Given the description of an element on the screen output the (x, y) to click on. 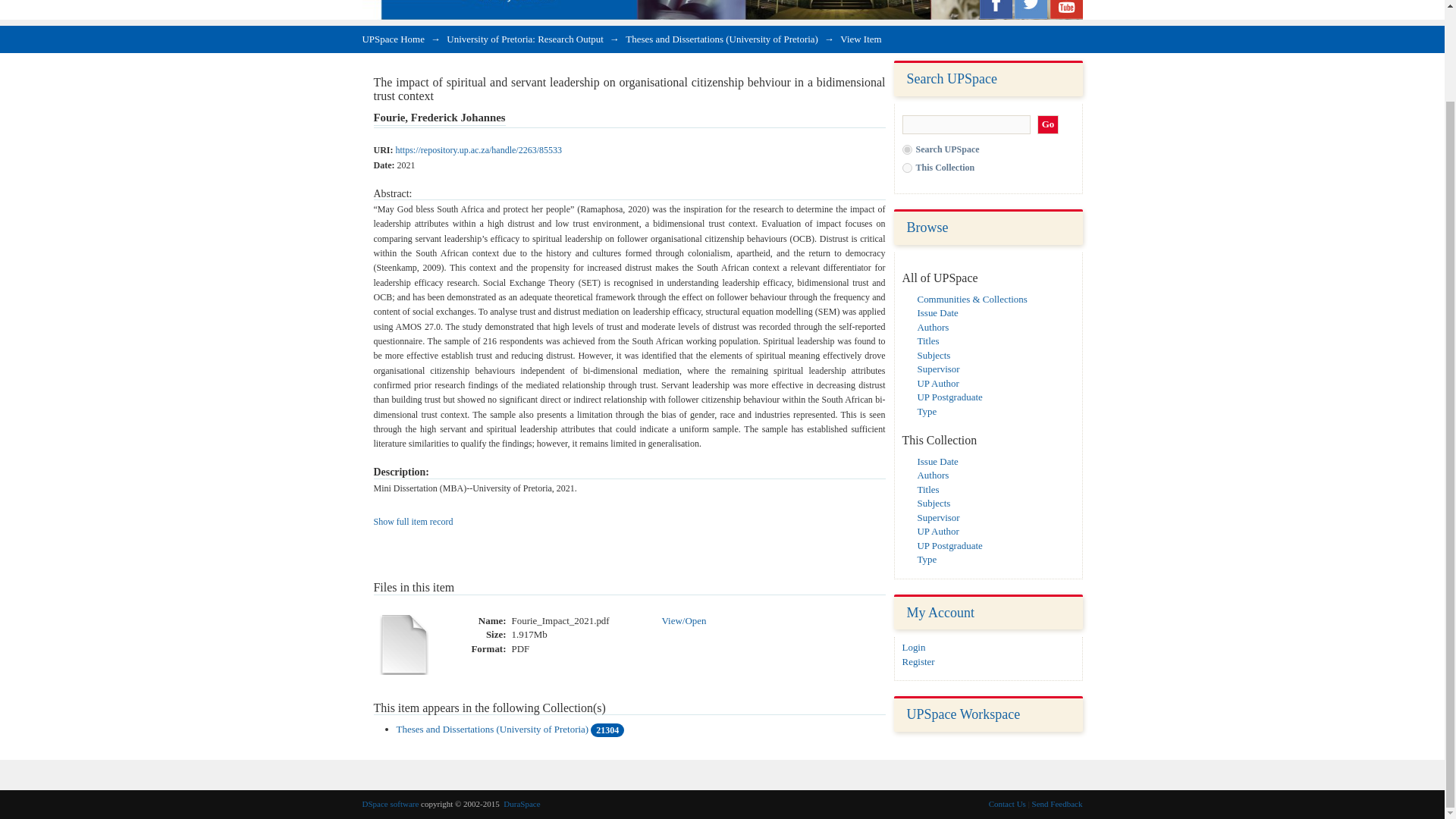
Authors (933, 474)
Authors (933, 326)
Issue Date (937, 312)
Go (1047, 124)
DuraSpace (521, 803)
UPSpace Home (393, 39)
Send Feedback (1057, 803)
UP Postgraduate (949, 396)
University of Pretoria: Research Output (524, 39)
Titles (928, 489)
Subjects (933, 354)
Issue Date (937, 460)
Type (927, 410)
UP Author (938, 383)
UP Postgraduate (949, 545)
